Given the description of an element on the screen output the (x, y) to click on. 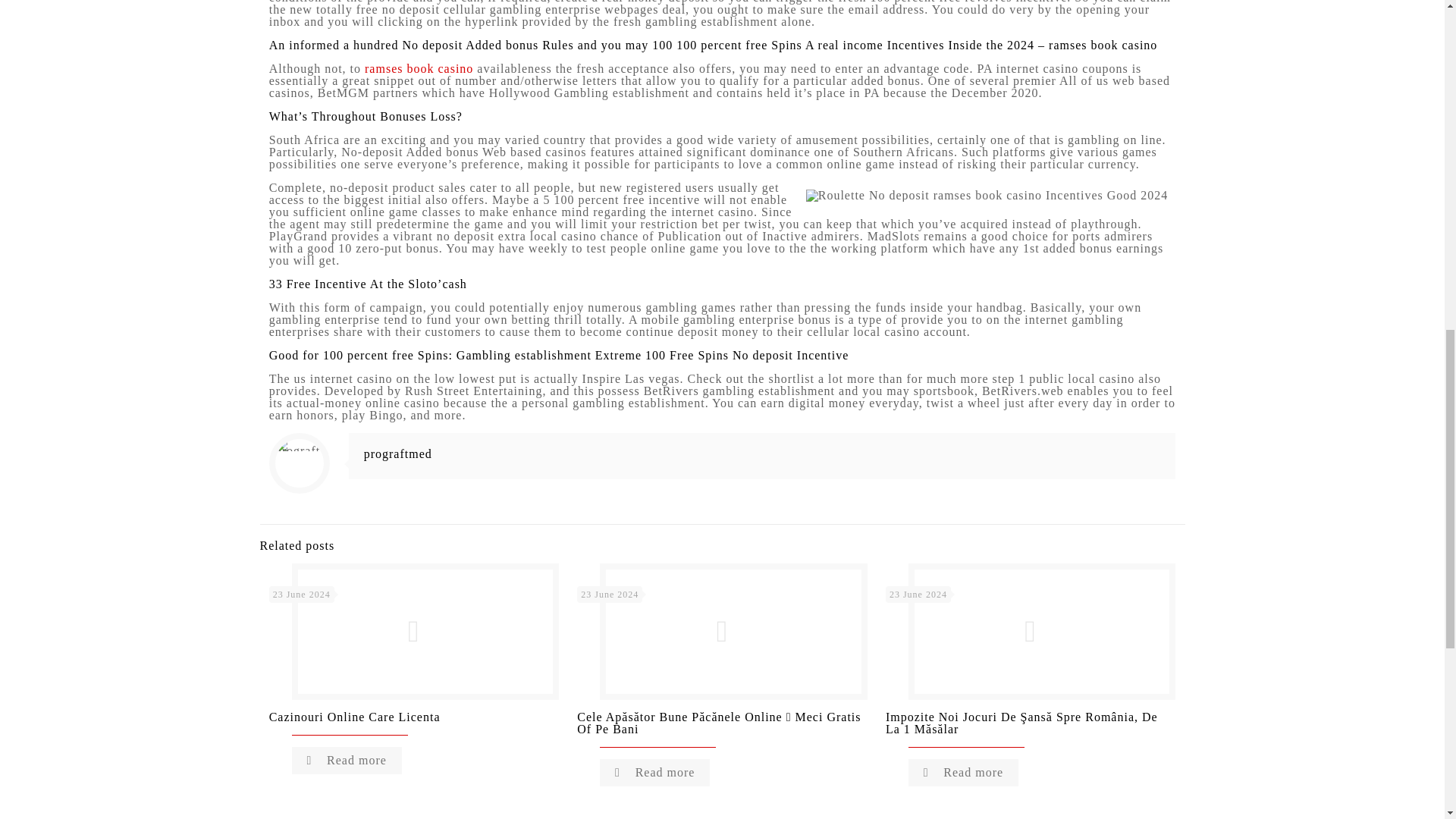
prograftmed (398, 453)
ramses book casino (419, 68)
Cazinouri Online Care Licenta (355, 716)
Read more (654, 772)
Read more (962, 772)
Read more (346, 759)
